Given the description of an element on the screen output the (x, y) to click on. 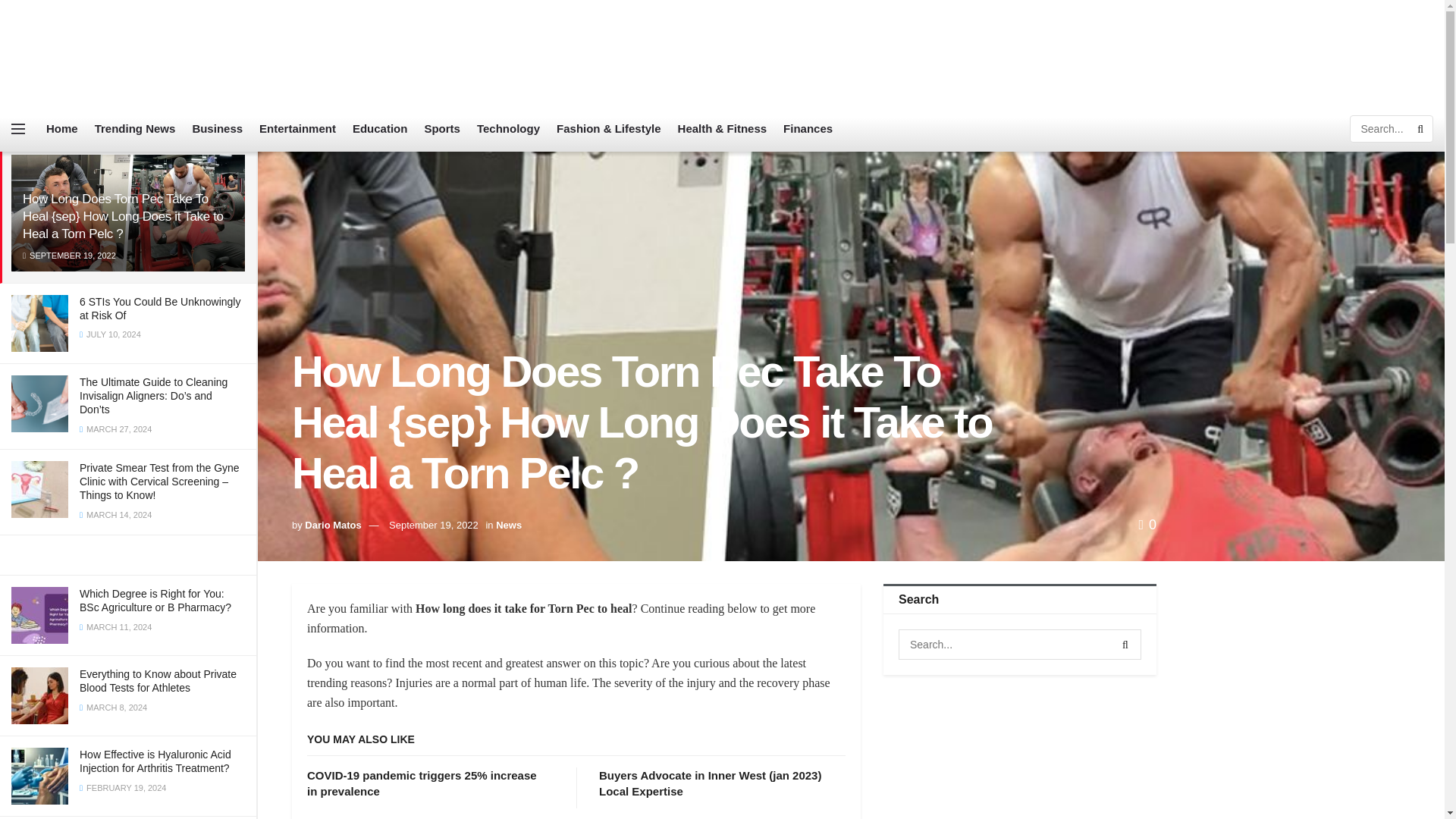
Education (379, 128)
Entertainment (297, 128)
Technology (508, 128)
6 STIs You Could Be Unknowingly at Risk Of (160, 308)
Business (217, 128)
Trending News (135, 128)
EditorialNet (118, 53)
Everything to Know about Private Blood Tests for Athletes (157, 680)
